Given the description of an element on the screen output the (x, y) to click on. 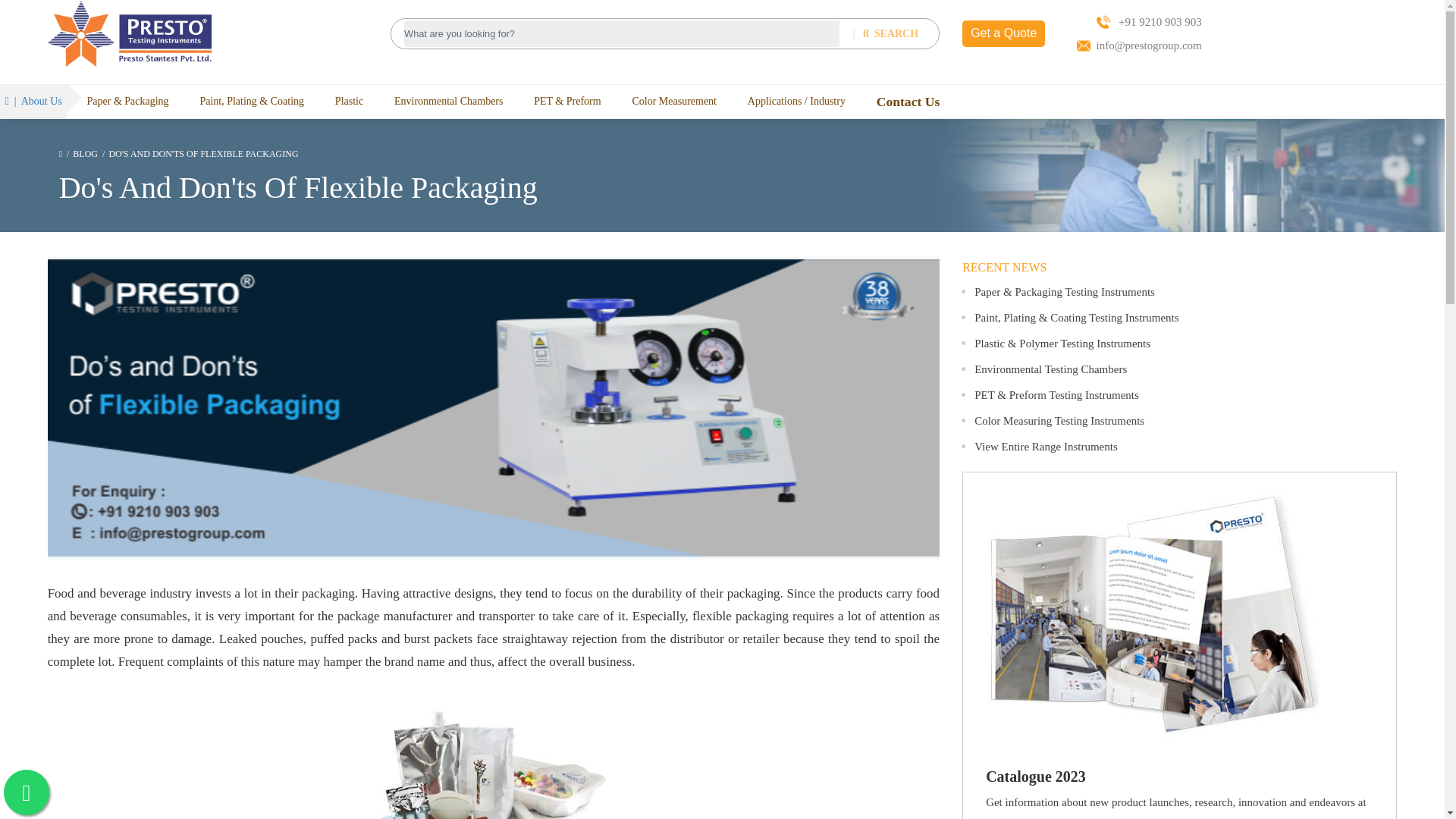
Get a Quote (1003, 33)
Contact Us (908, 101)
Color Measurement (674, 100)
Plastic (349, 100)
Environmental Chambers (448, 100)
